Given the description of an element on the screen output the (x, y) to click on. 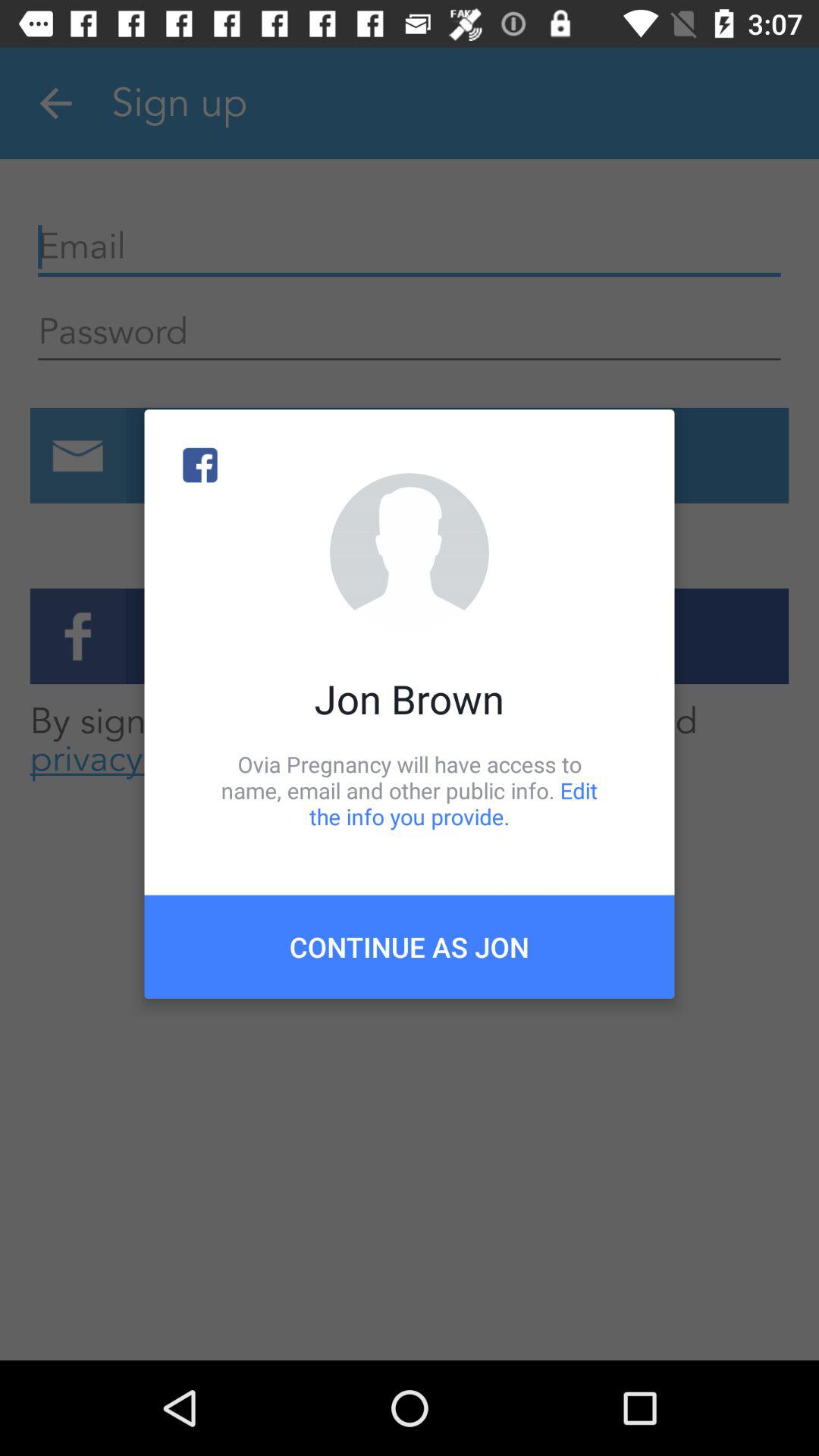
tap icon above the continue as jon icon (409, 790)
